Given the description of an element on the screen output the (x, y) to click on. 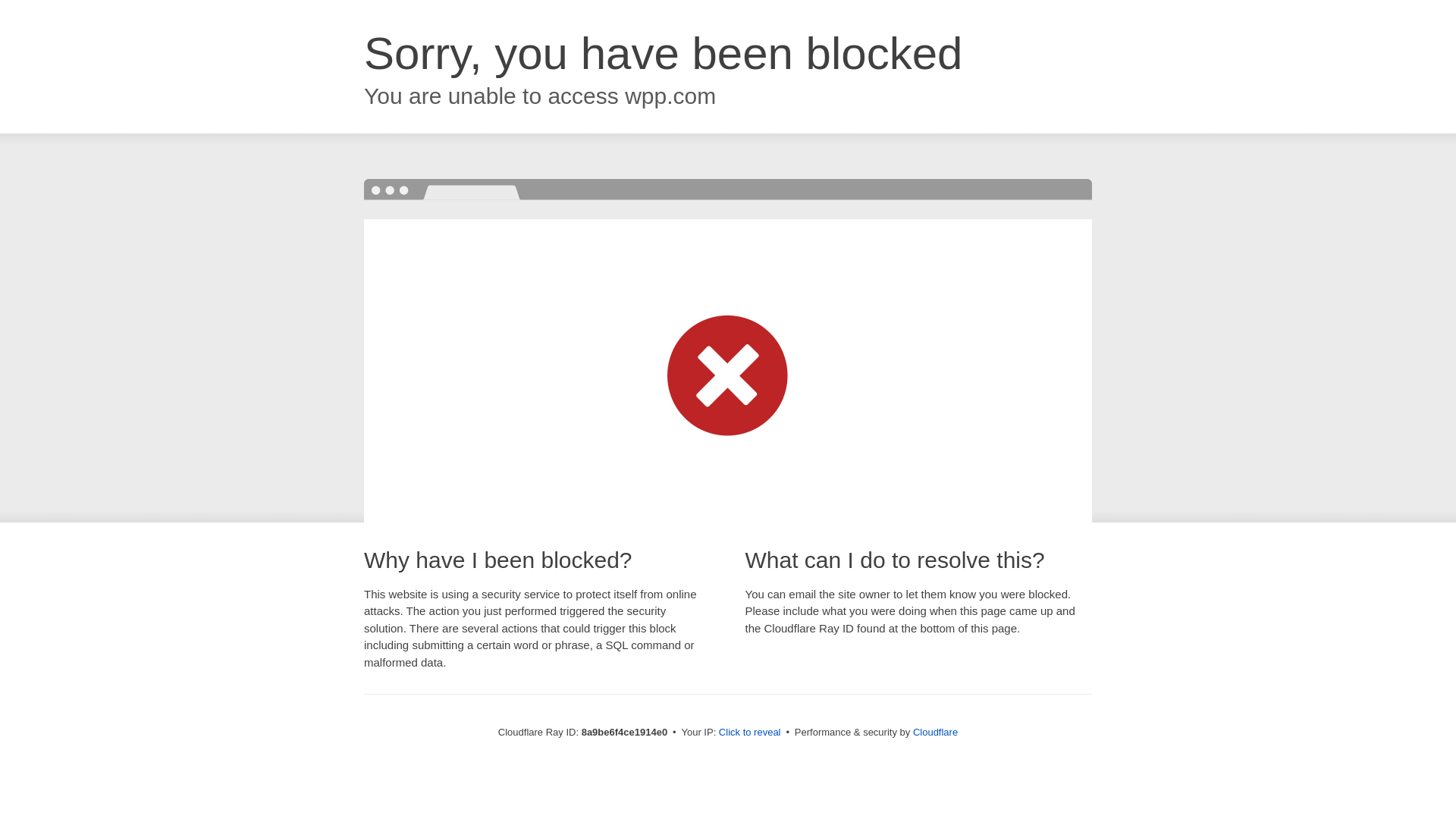
Click to reveal (749, 732)
Cloudflare (935, 731)
